Given the description of an element on the screen output the (x, y) to click on. 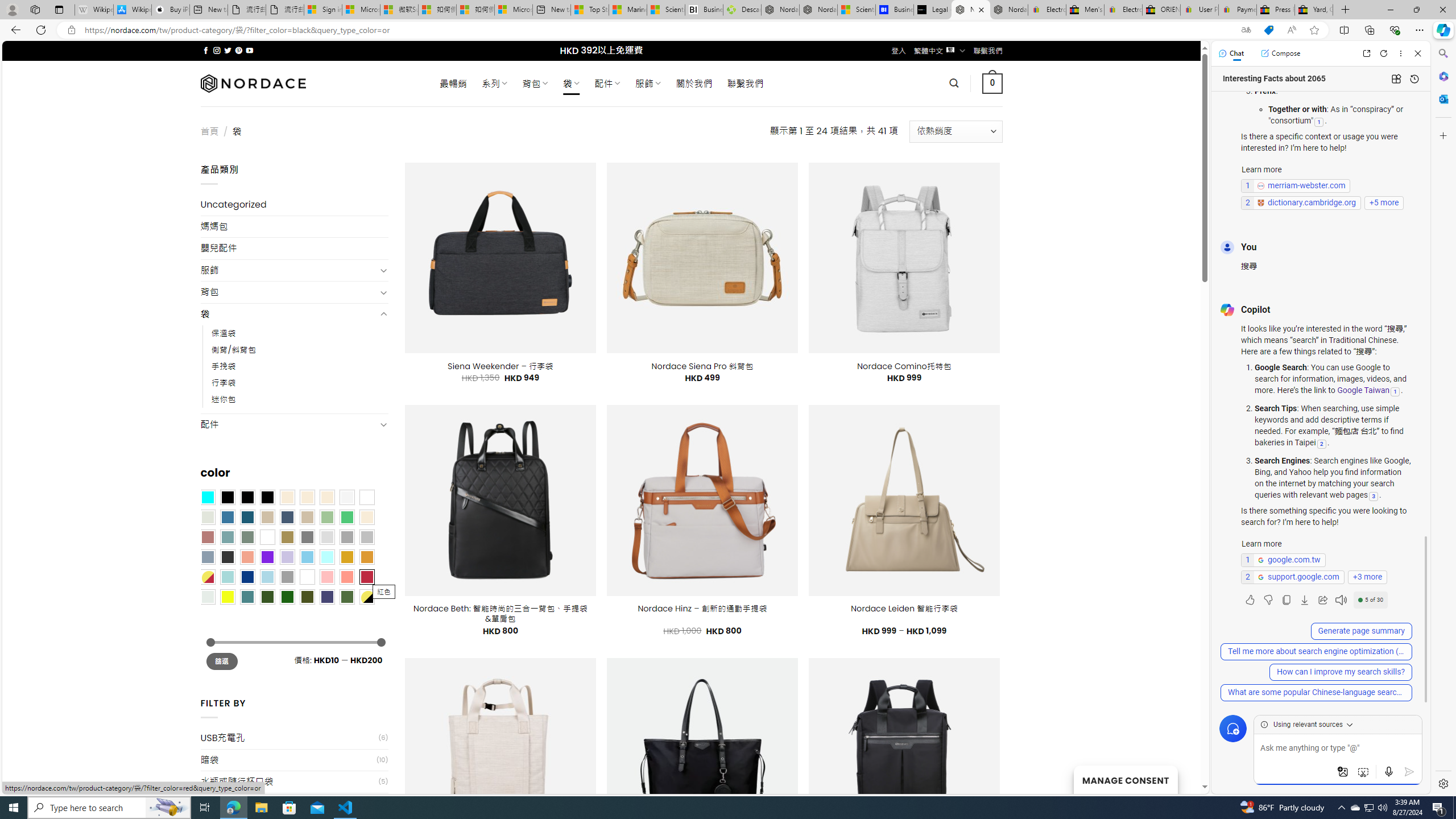
Microsoft account | Account Checkup (513, 9)
Dull Nickle (207, 596)
Follow on Facebook (205, 50)
